Given the description of an element on the screen output the (x, y) to click on. 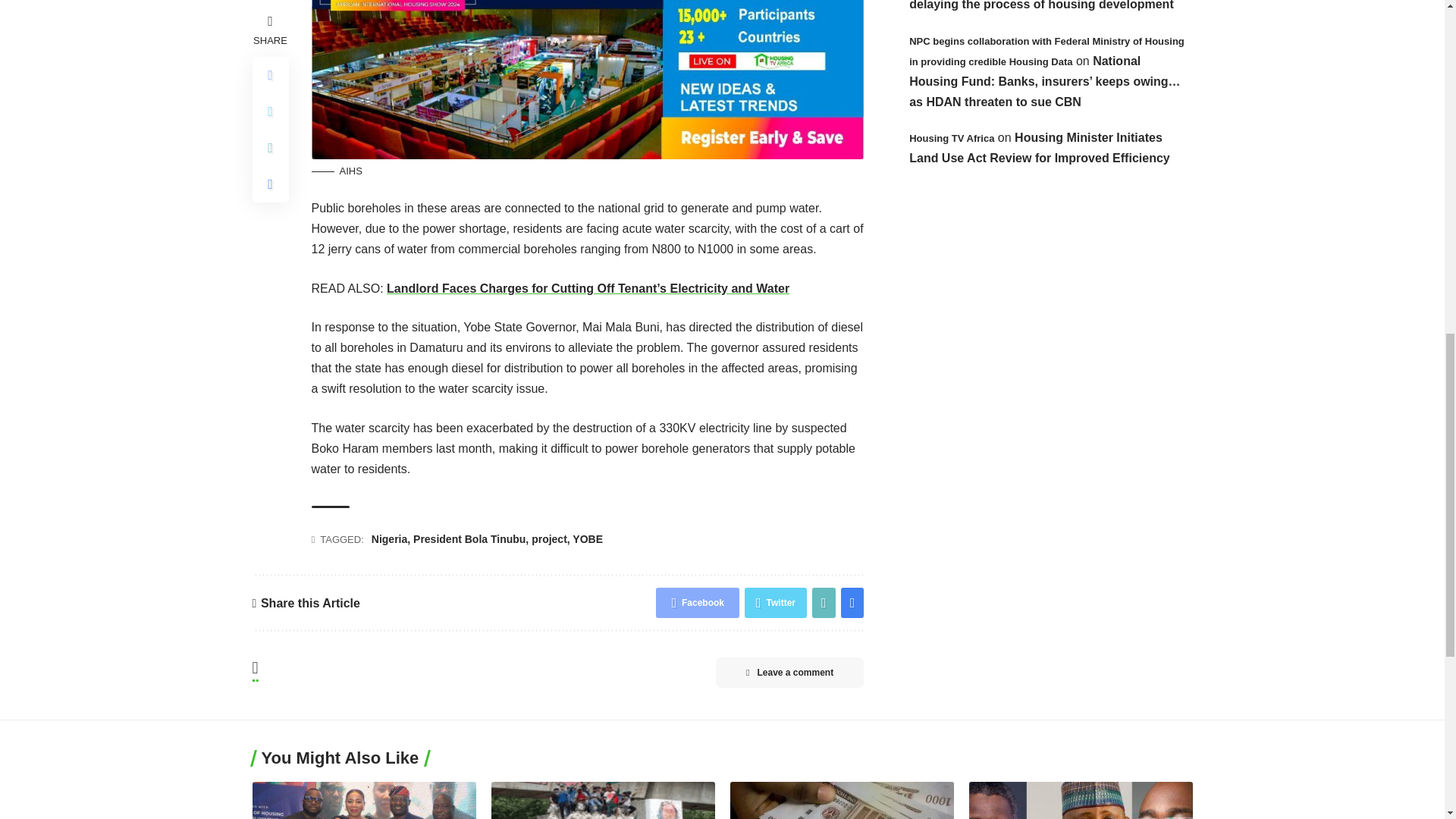
Naira Appreciates to N1,607.15 per Dollar in NAFEM (841, 800)
